Given the description of an element on the screen output the (x, y) to click on. 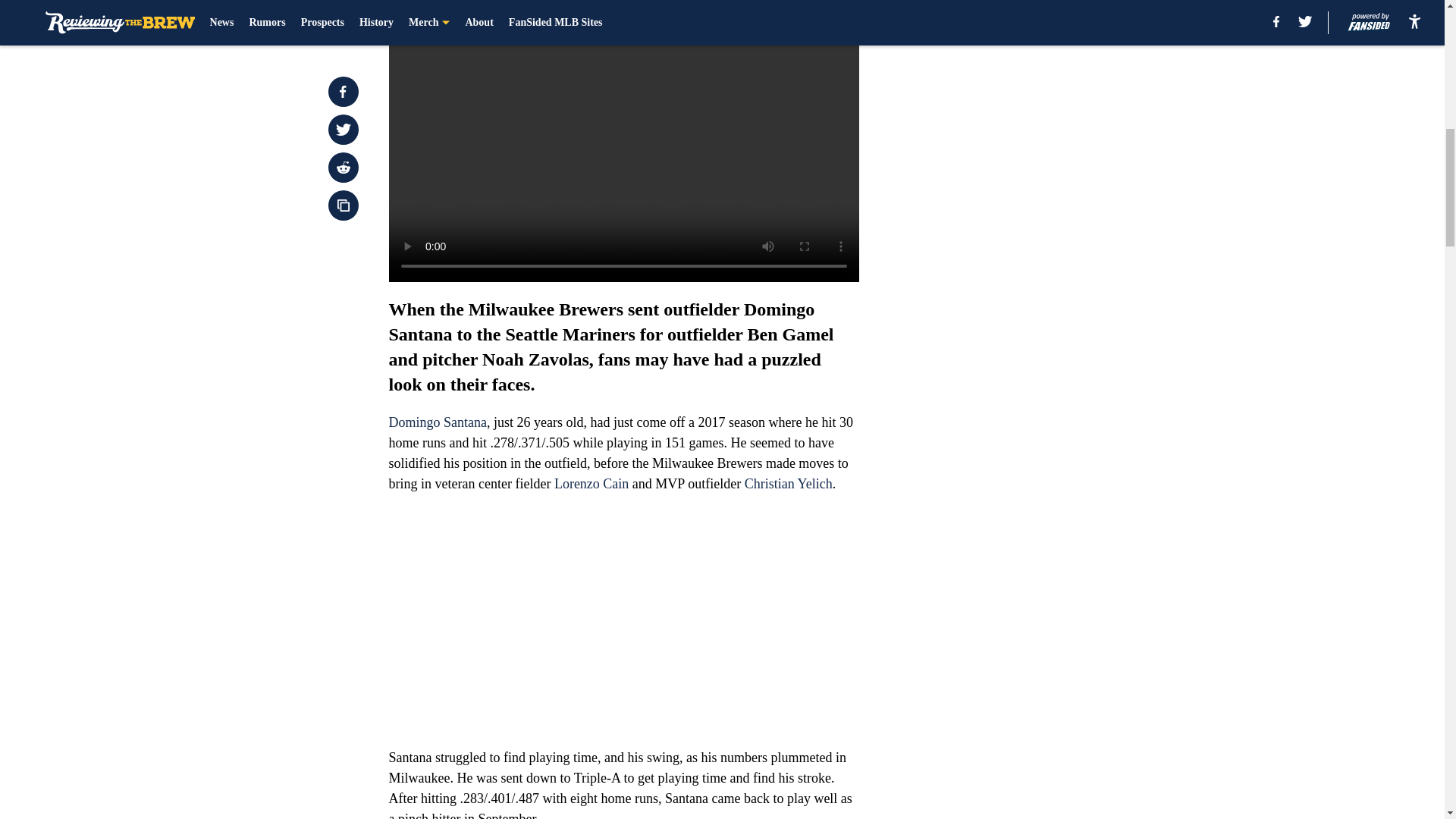
Domingo Santana (437, 421)
Christian Yelich (788, 483)
3rd party ad content (1047, 113)
Lorenzo Cain (591, 483)
3rd party ad content (1047, 317)
